Given the description of an element on the screen output the (x, y) to click on. 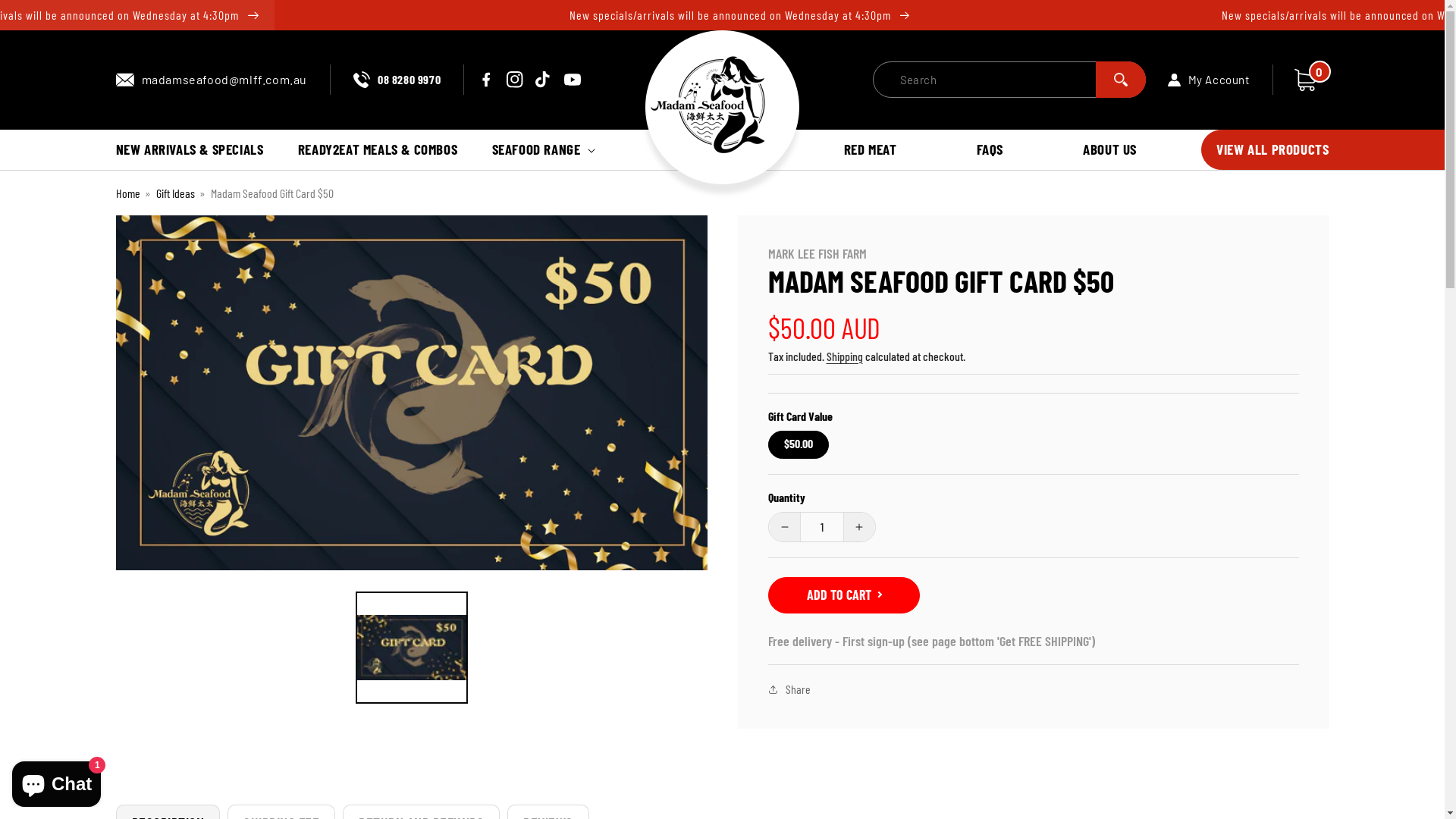
Gift Ideas Element type: text (175, 192)
RED MEAT Element type: text (869, 149)
TikTok Element type: text (543, 79)
NEW ARRIVALS & SPECIALS Element type: text (189, 149)
ABOUT US Element type: text (1109, 149)
Shopify online store chat Element type: hover (56, 780)
madamseafood@mlff.com.au Element type: text (210, 79)
VIEW ALL PRODUCTS Element type: text (1272, 149)
ADD TO CART Element type: text (843, 595)
READY2EAT MEALS & COMBOS Element type: text (377, 149)
Decrease quantity for Madam Seafood Gift Card $50 Element type: text (783, 526)
Shipping Element type: text (844, 355)
My Account Element type: text (1220, 79)
Home Element type: text (127, 192)
Facebook Element type: text (485, 79)
YouTube Element type: text (572, 79)
08 8280 9970 Element type: text (396, 79)
Increase quantity for Madam Seafood Gift Card $50 Element type: text (858, 526)
FAQS Element type: text (989, 149)
Cart
0
0 items Element type: text (1304, 79)
Instagram Element type: text (514, 79)
Skip to product information Element type: text (161, 232)
